Given the description of an element on the screen output the (x, y) to click on. 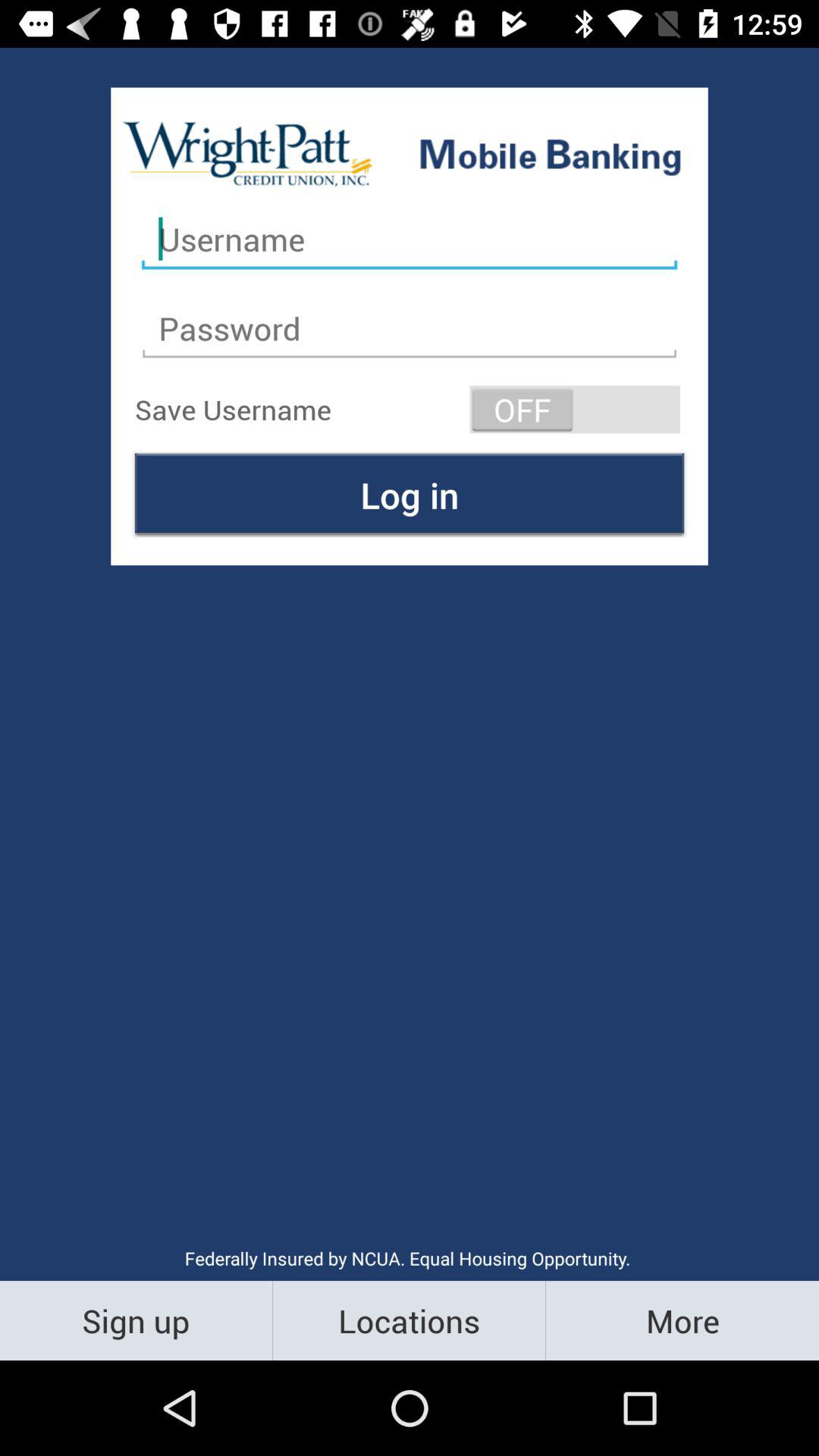
select the icon to the right of the locations (682, 1320)
